Given the description of an element on the screen output the (x, y) to click on. 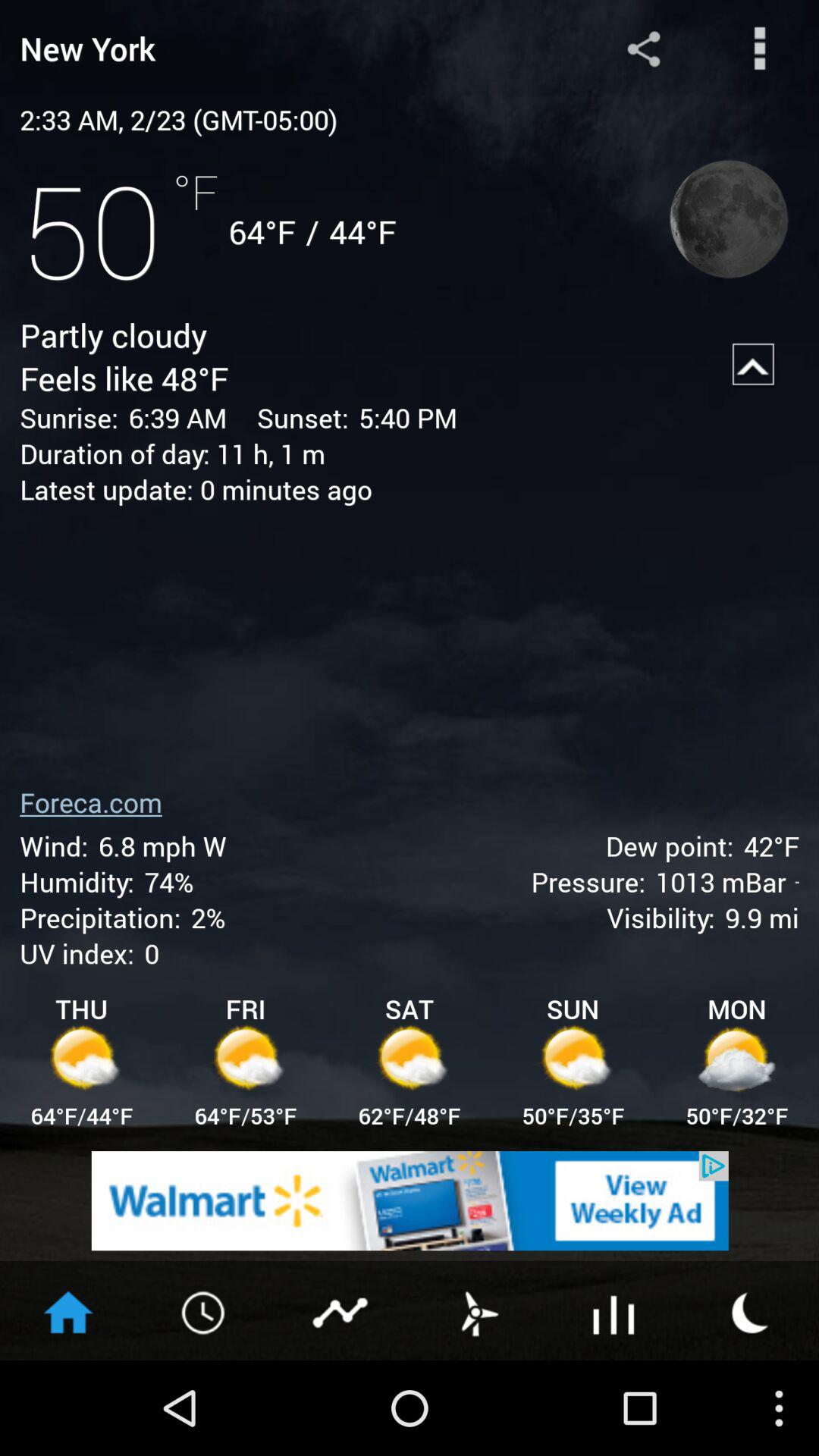
view forecast chart (614, 1311)
